Given the description of an element on the screen output the (x, y) to click on. 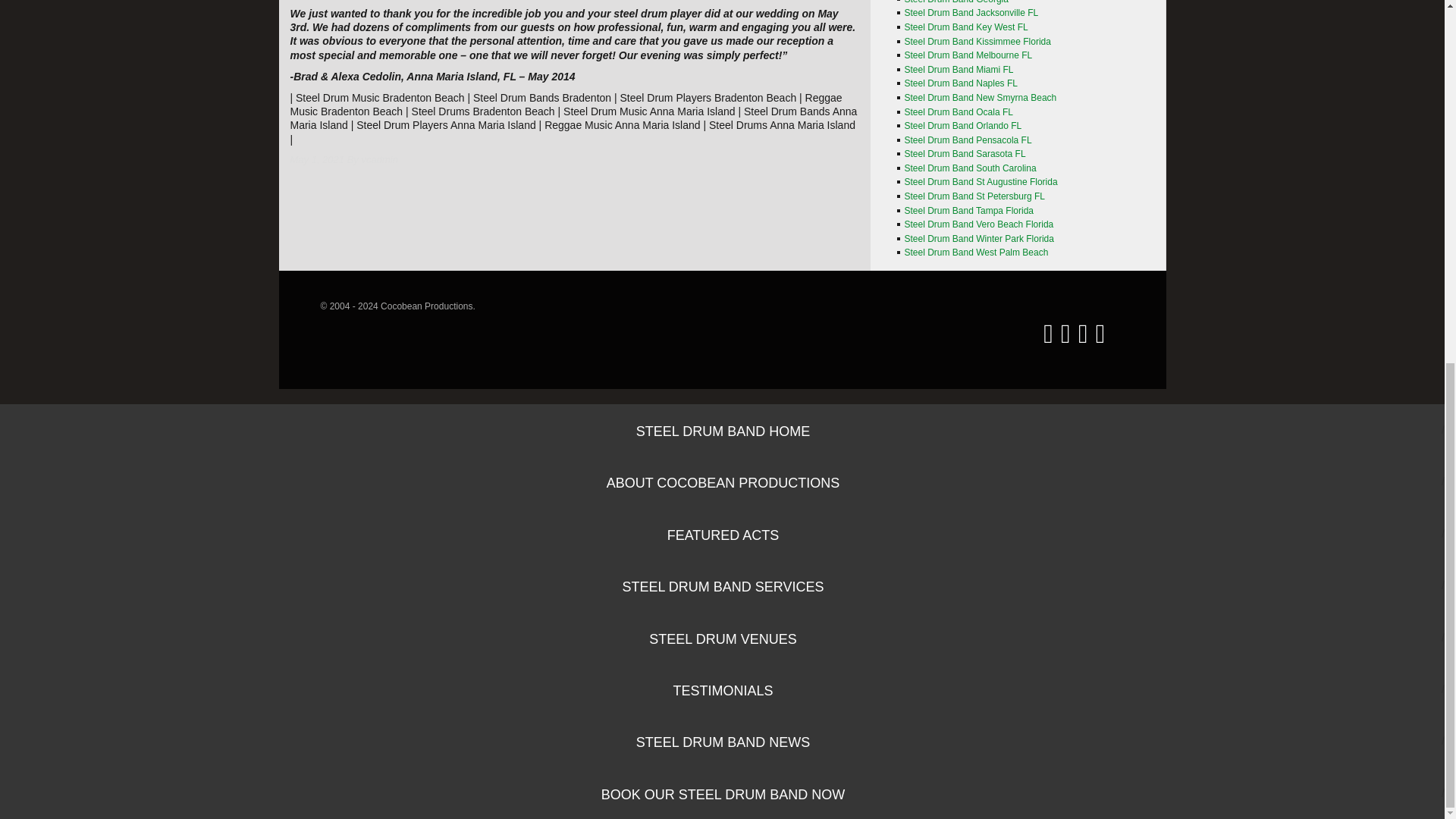
Steel Drum Band Melbourne FL (968, 54)
Steel Drum Band Key West FL (965, 27)
vcadmin (379, 159)
Steel Drum Band Kissimmee Florida (976, 41)
author profile (379, 159)
Steel Drum Band Georgia (955, 2)
Steel Drum Band Jacksonville FL (971, 12)
